Given the description of an element on the screen output the (x, y) to click on. 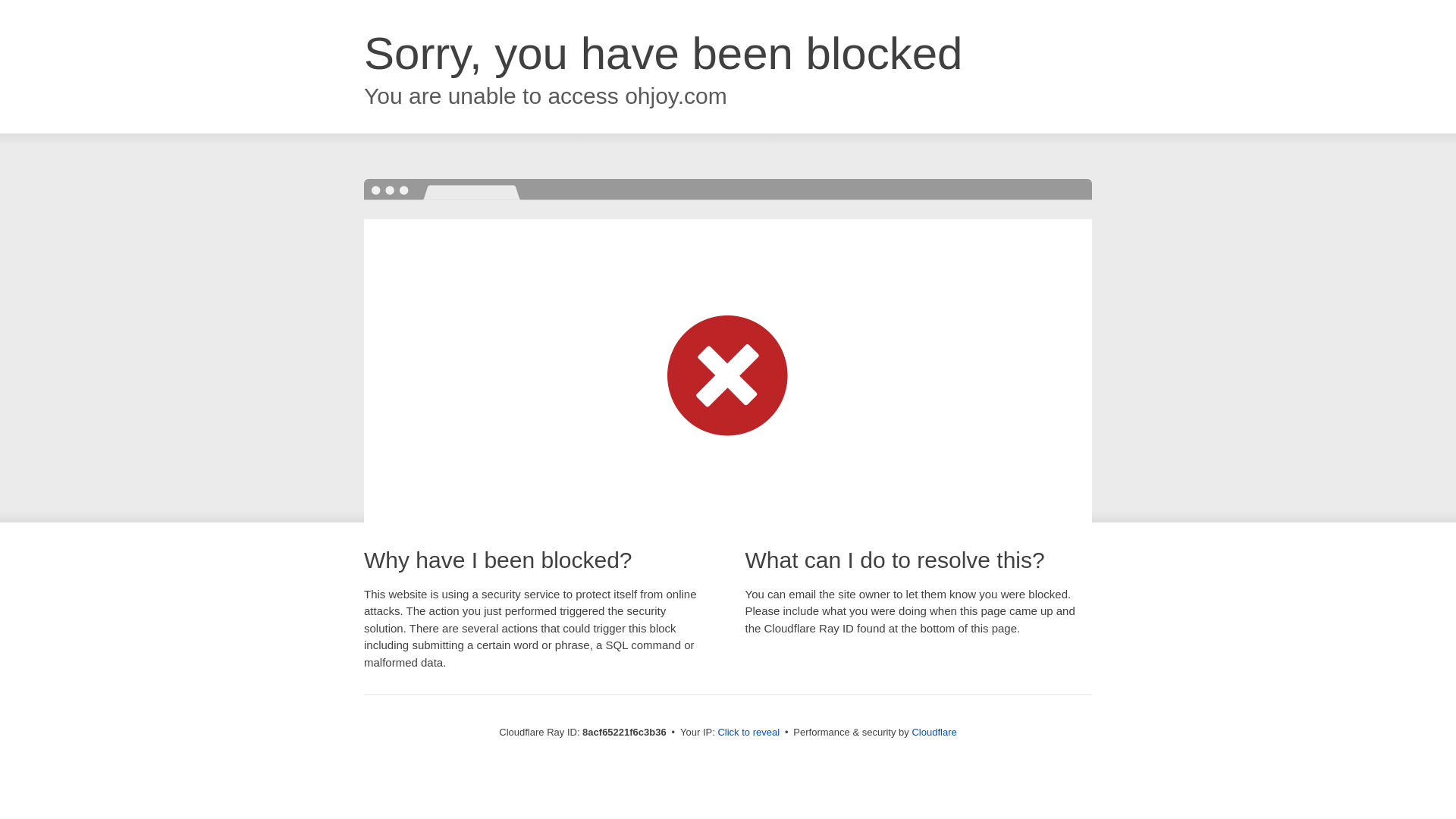
Cloudflare (933, 731)
Click to reveal (747, 732)
